Given the description of an element on the screen output the (x, y) to click on. 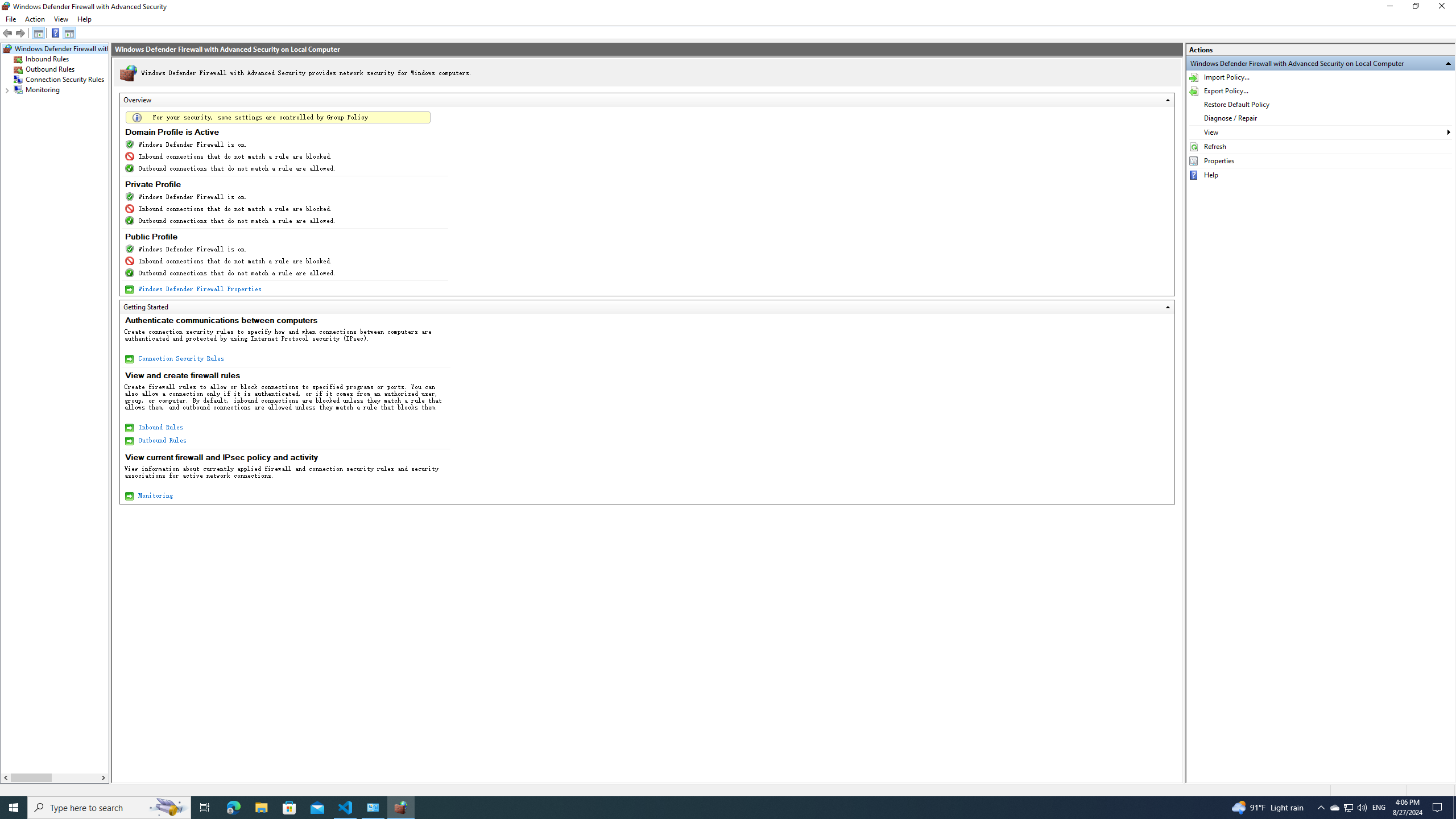
Monitoring (42, 89)
Column right (103, 777)
Running applications (706, 807)
File (10, 19)
System (6, 6)
Diagnose / Repair (1320, 118)
Action (34, 19)
Show/Hide Console Tree (38, 33)
View (1320, 132)
Import Policy... (1320, 77)
